Given the description of an element on the screen output the (x, y) to click on. 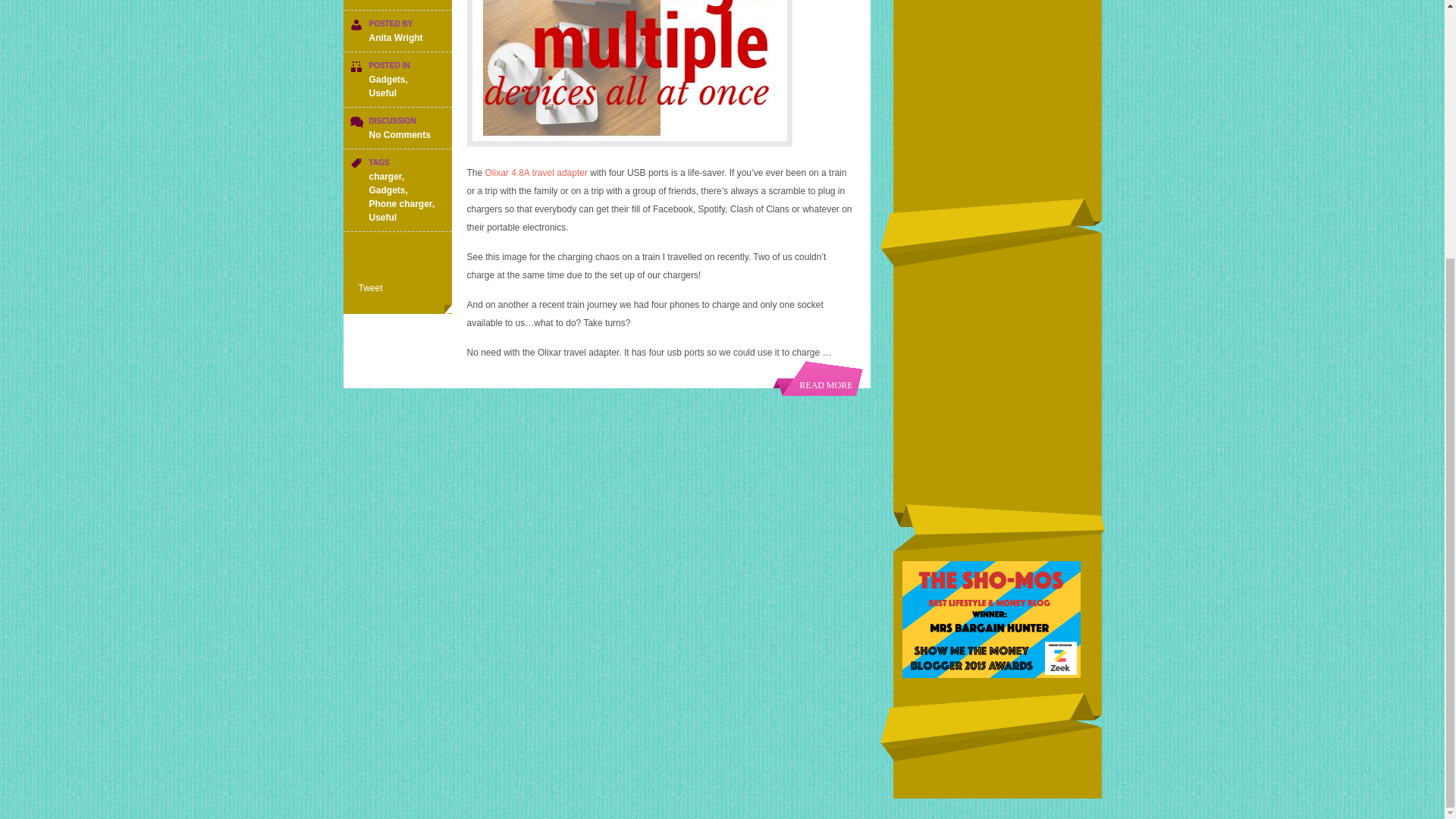
Phone charger (399, 204)
Useful (382, 217)
Gadgets (386, 79)
charger (384, 176)
Read the full post (817, 378)
Useful (382, 92)
Tweet (369, 287)
Advertisement (997, 91)
Anita Wright (395, 37)
Olixar 4.8A travel adapter (536, 172)
Gadgets (386, 190)
Read the full post (661, 73)
Posts by Anita Wright (395, 37)
READ MORE (817, 378)
